Given the description of an element on the screen output the (x, y) to click on. 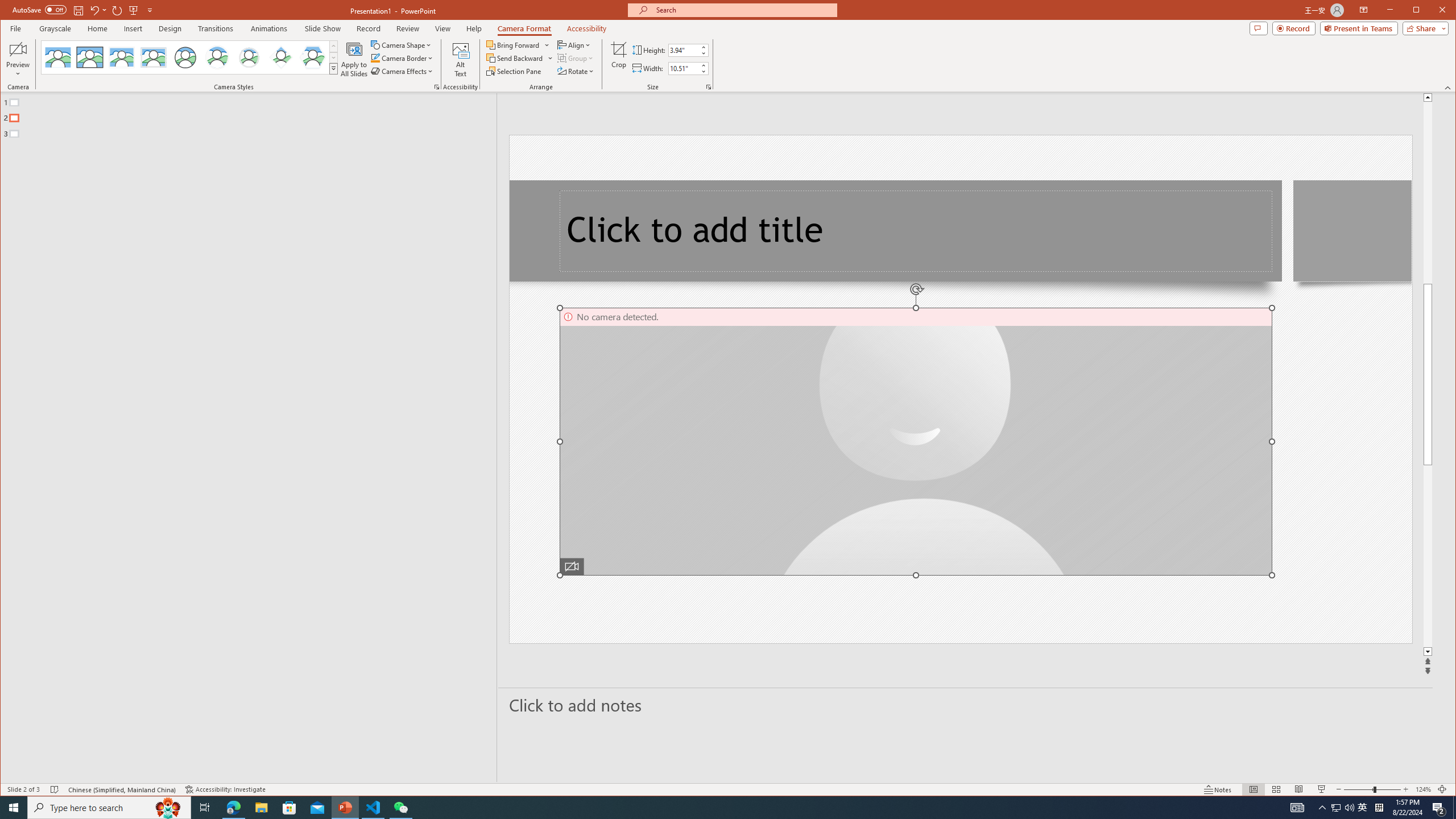
Class: NetUIImage (333, 68)
Camera Shape (402, 44)
Outline (252, 115)
Review (407, 28)
Maximize (1432, 11)
Alt Text (460, 59)
Ribbon Display Options (1364, 9)
Type here to search (108, 807)
Action Center, 2 new notifications (1439, 807)
Zoom Out (1358, 789)
Quick Access Toolbar (83, 9)
Crop (618, 59)
Camera Format (524, 28)
Notes  (1217, 789)
Preview (17, 59)
